Given the description of an element on the screen output the (x, y) to click on. 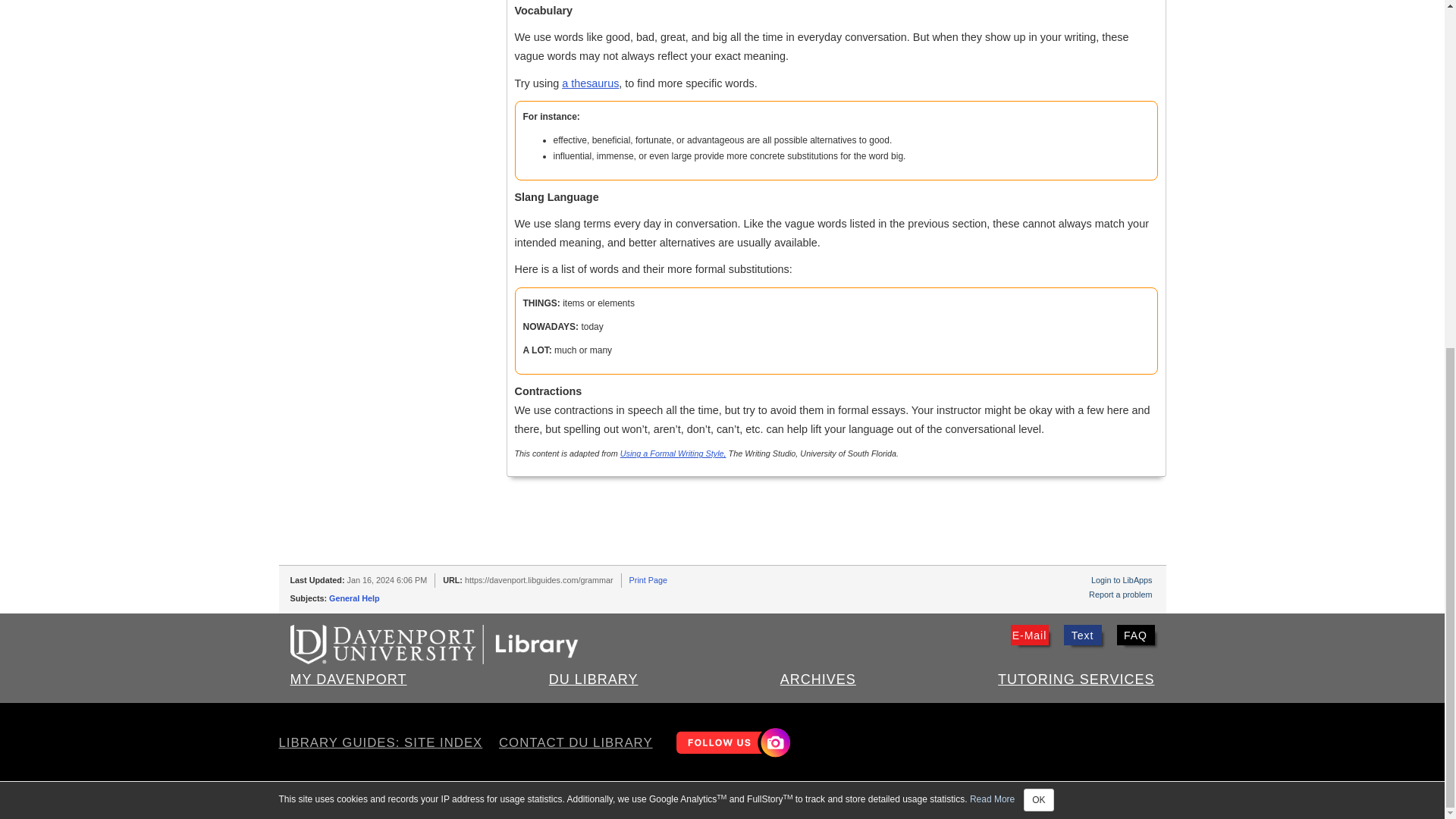
General Help (354, 597)
OK (1037, 200)
Report a problem (1120, 593)
Login to LibApps (1120, 579)
Read More (991, 199)
Text (1081, 634)
a thesaurus (590, 82)
E-Mail (1029, 634)
Print Page (647, 579)
Using a Formal Writing Style, (673, 452)
Text DU Library at 616.504.1696 (1081, 634)
